Given the description of an element on the screen output the (x, y) to click on. 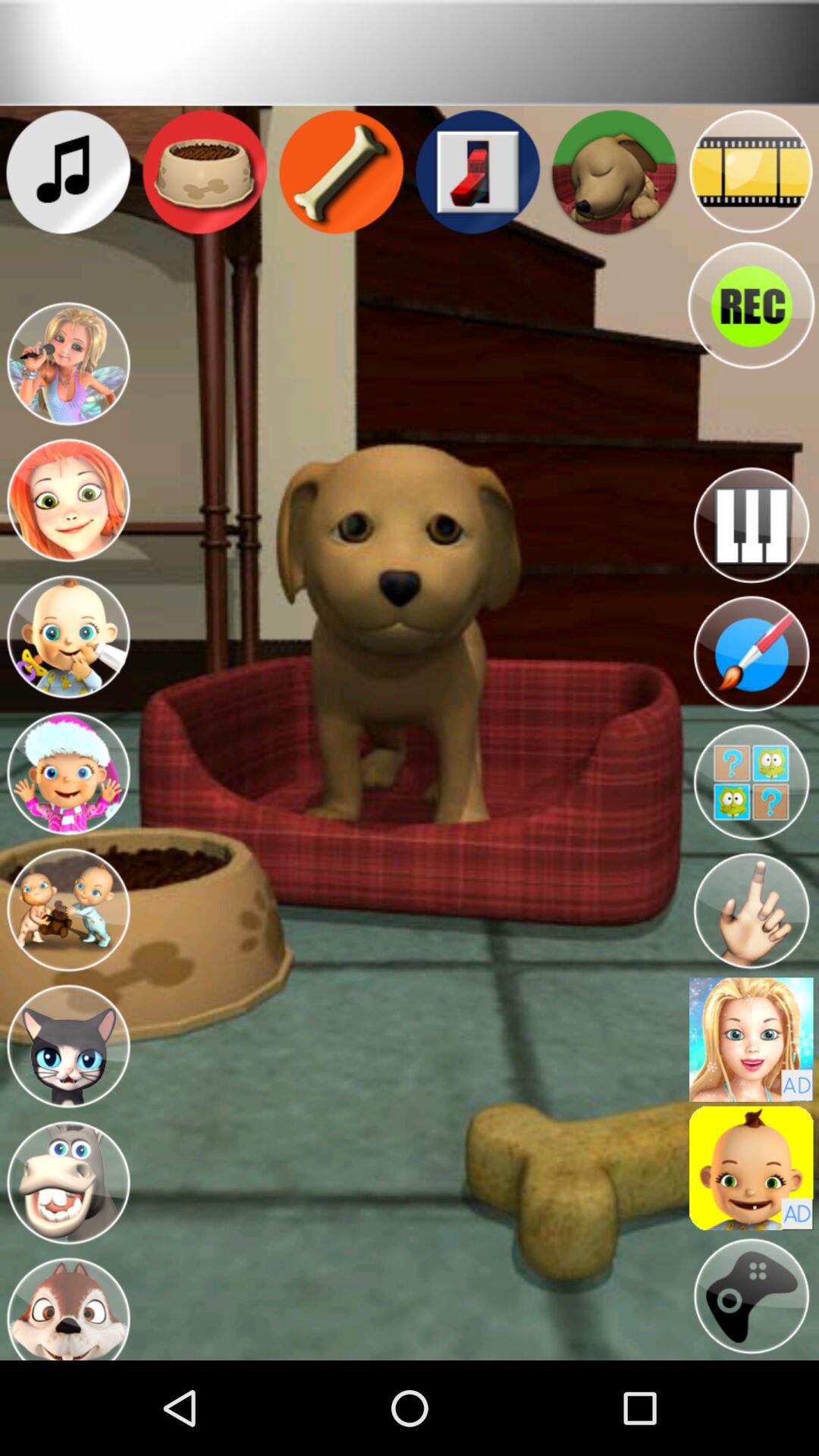
select the paint option (751, 653)
